Given the description of an element on the screen output the (x, y) to click on. 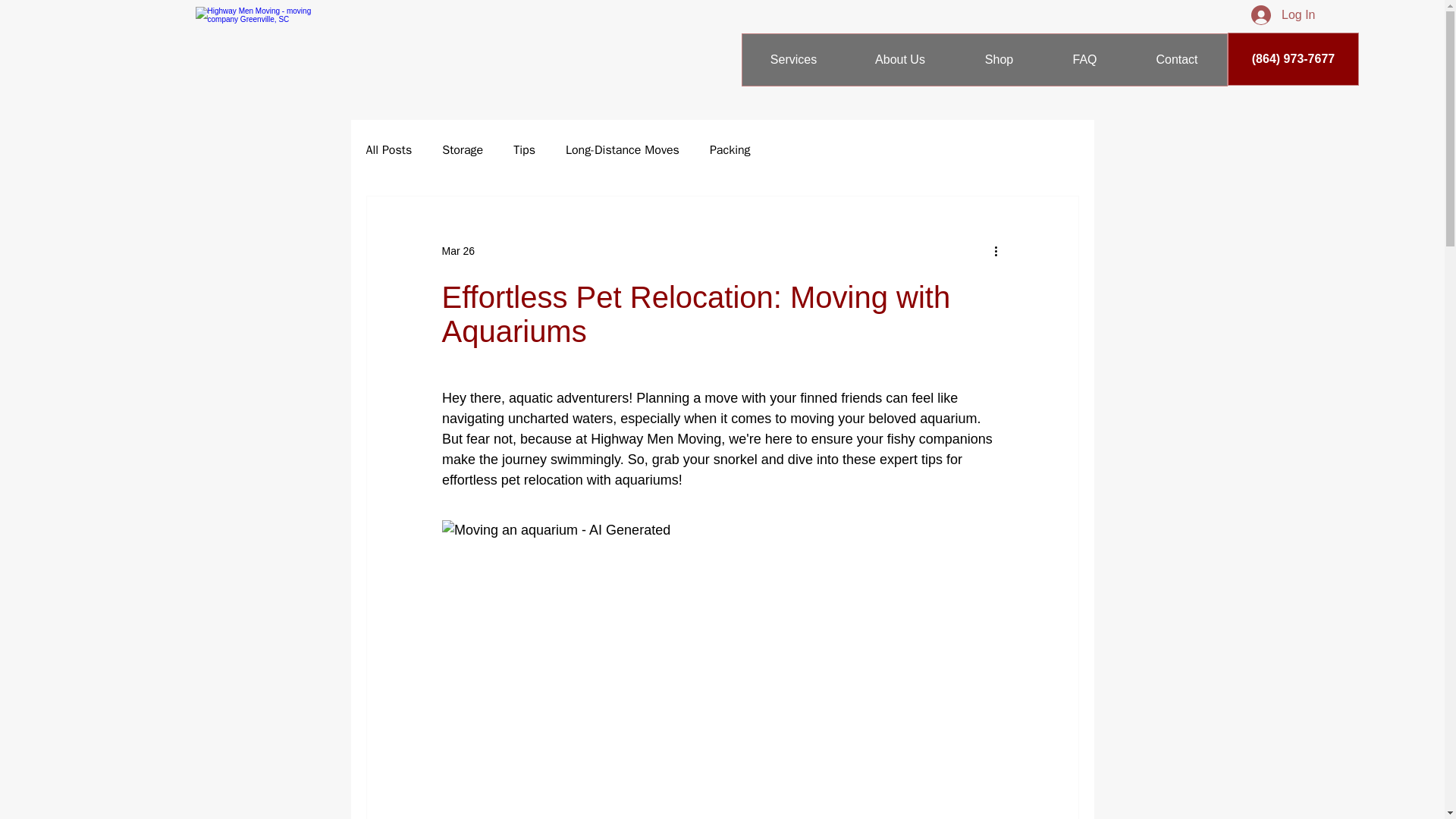
Tips (524, 150)
Packing (730, 150)
About Us (899, 59)
Long-Distance Moves (622, 150)
Log In (1282, 14)
Shop (998, 59)
Contact (1176, 59)
FAQ (1083, 59)
All Posts (388, 150)
Mar 26 (457, 250)
